Given the description of an element on the screen output the (x, y) to click on. 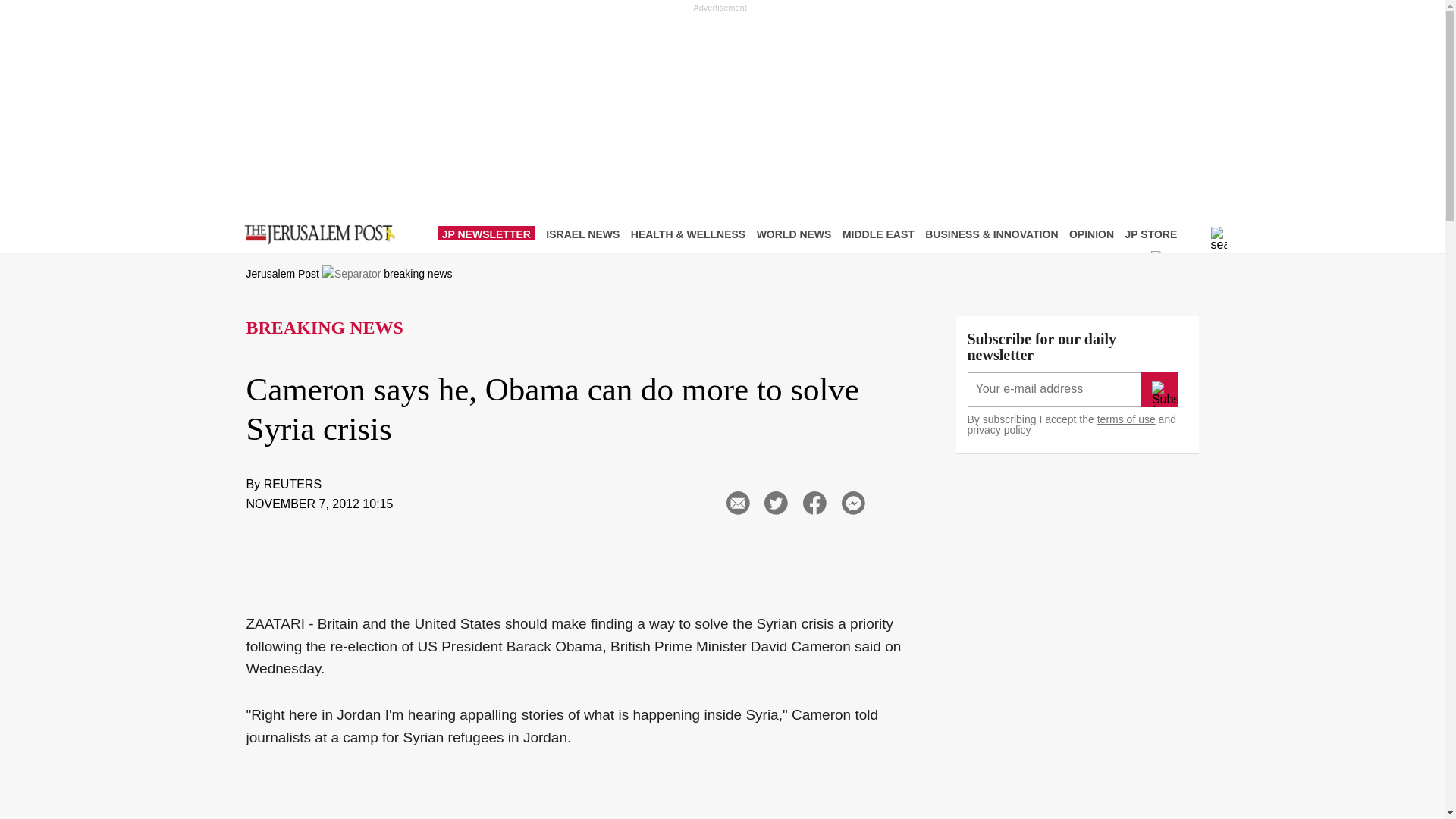
Jerusalem Post (282, 273)
JP STORE (1155, 234)
ISRAEL NEWS (586, 234)
breaking news (417, 273)
Jerusalem Post (282, 273)
The Jerusalem Post Logo - Bring them home now (316, 235)
MIDDLE EAST (882, 234)
